Given the description of an element on the screen output the (x, y) to click on. 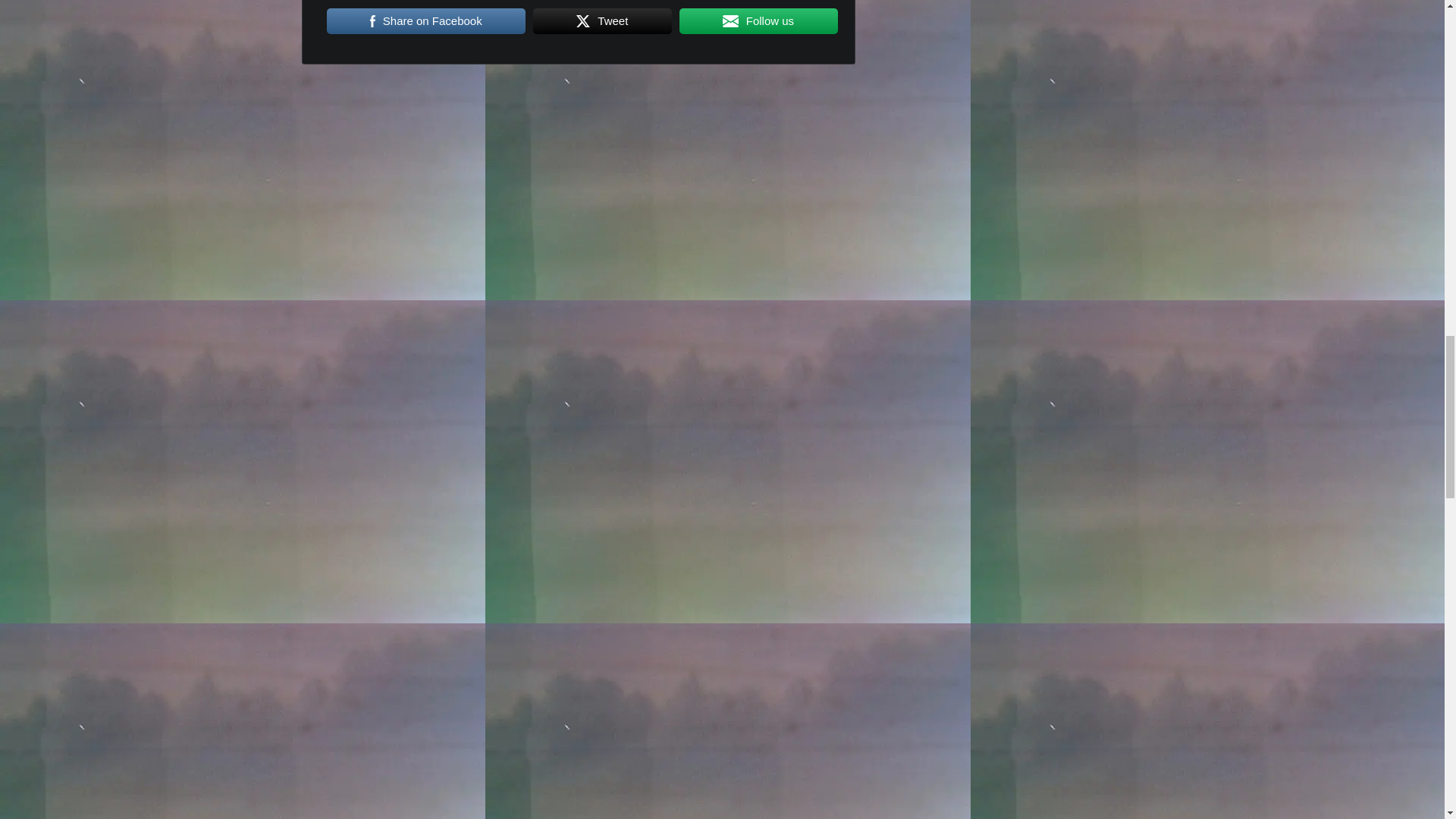
Tweet (601, 21)
Share on Facebook (425, 21)
Follow us (758, 21)
